Given the description of an element on the screen output the (x, y) to click on. 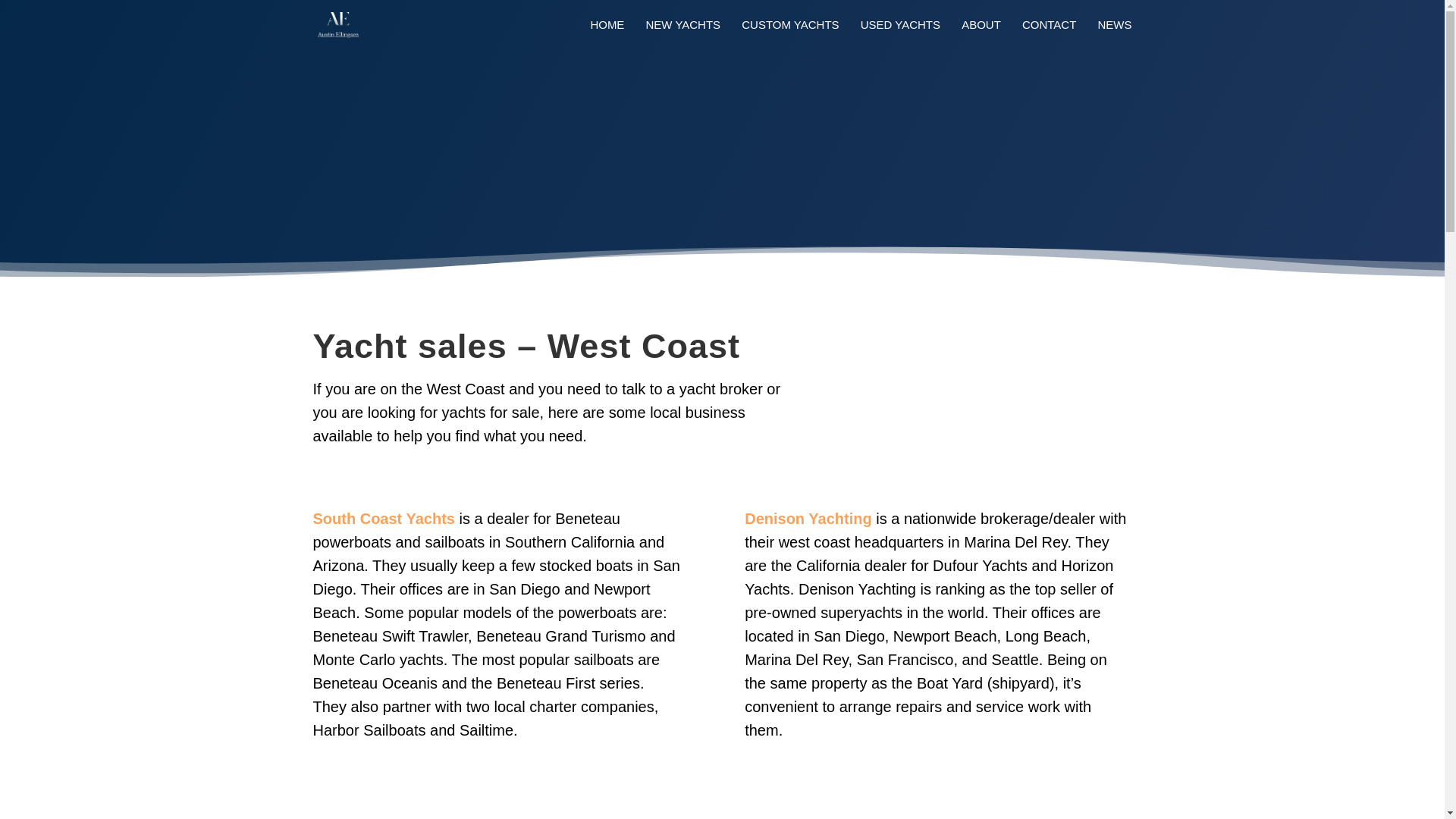
USED YACHTS (900, 34)
South Coast Yachts (383, 518)
CUSTOM YACHTS (789, 34)
NEWS (1114, 34)
CONTACT (1048, 34)
NEW YACHTS (683, 34)
HOME (606, 34)
San Diego and Newport Beach Yacht Sales (383, 518)
ABOUT (980, 34)
Used And New Yachts For Sale (807, 518)
